Given the description of an element on the screen output the (x, y) to click on. 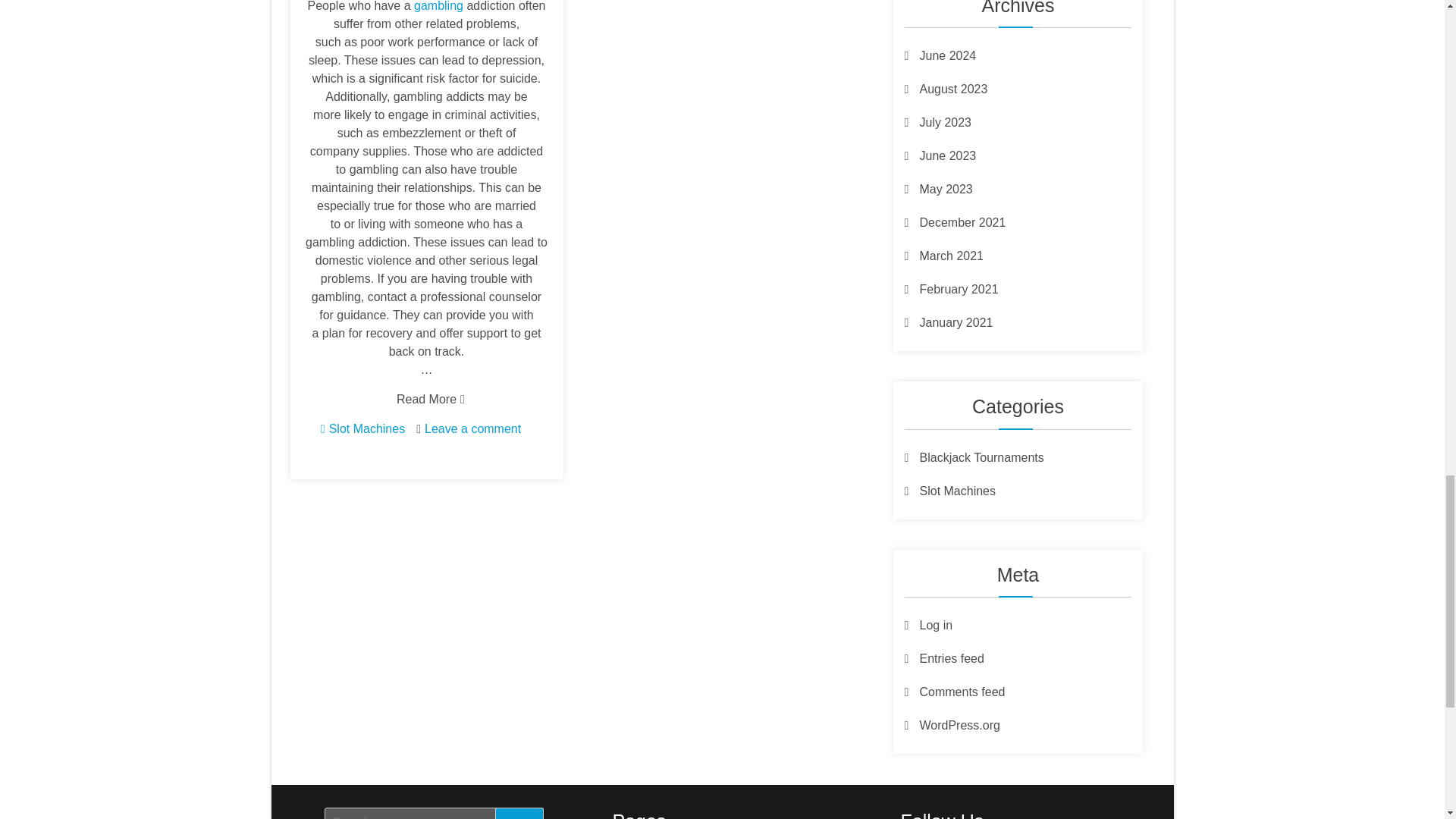
March 2021 (944, 255)
WordPress.org (951, 725)
January 2021 (948, 322)
gambling (438, 6)
May 2023 (938, 188)
Search (519, 813)
Search (519, 813)
August 2023 (945, 88)
Entries feed (944, 658)
June 2024 (939, 55)
Leave a comment (473, 428)
July 2023 (937, 122)
June 2023 (939, 155)
Slot Machines (367, 428)
Read More (426, 399)
